Given the description of an element on the screen output the (x, y) to click on. 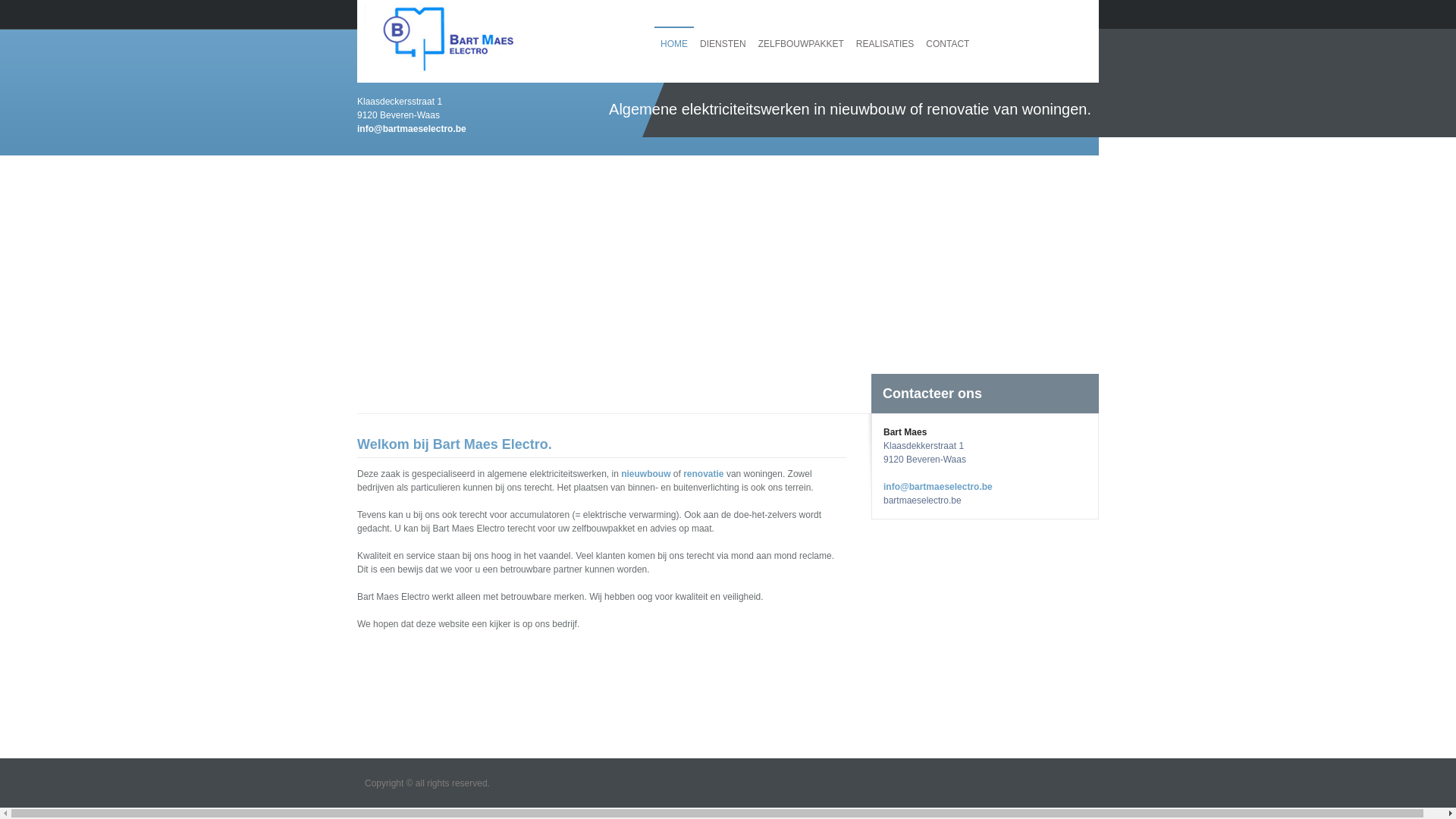
info@bartmaeselectro.be Element type: text (411, 128)
CONTACT Element type: text (947, 43)
nieuwbouw Element type: text (645, 473)
DIENSTEN Element type: text (722, 43)
renovatie Element type: text (703, 473)
ZELFBOUWPAKKET Element type: text (801, 43)
HOME Element type: text (673, 43)
info@bartmaeselectro.be Element type: text (937, 486)
REALISATIES Element type: text (884, 43)
